Given the description of an element on the screen output the (x, y) to click on. 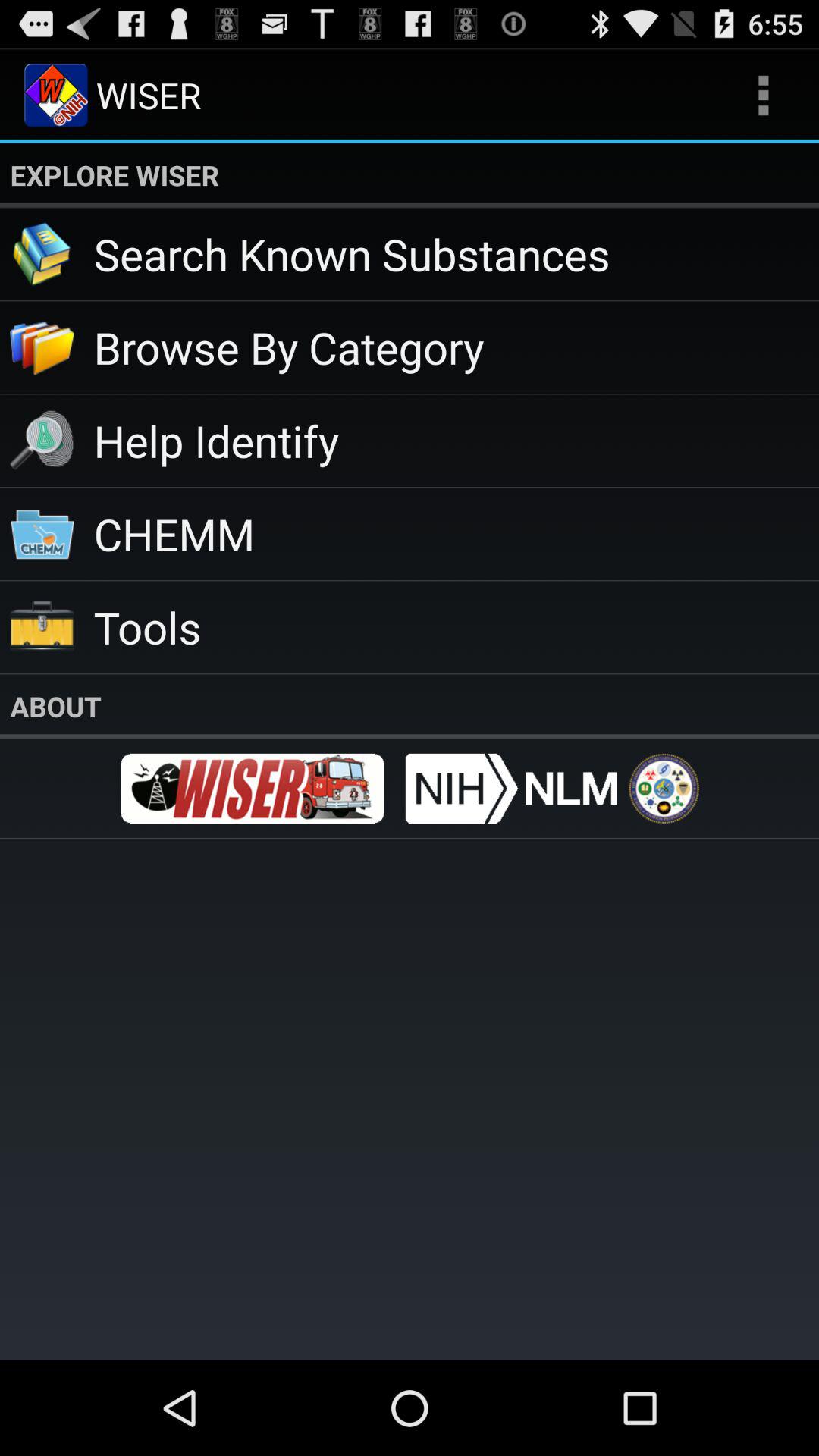
click the item below the help identify icon (456, 533)
